Given the description of an element on the screen output the (x, y) to click on. 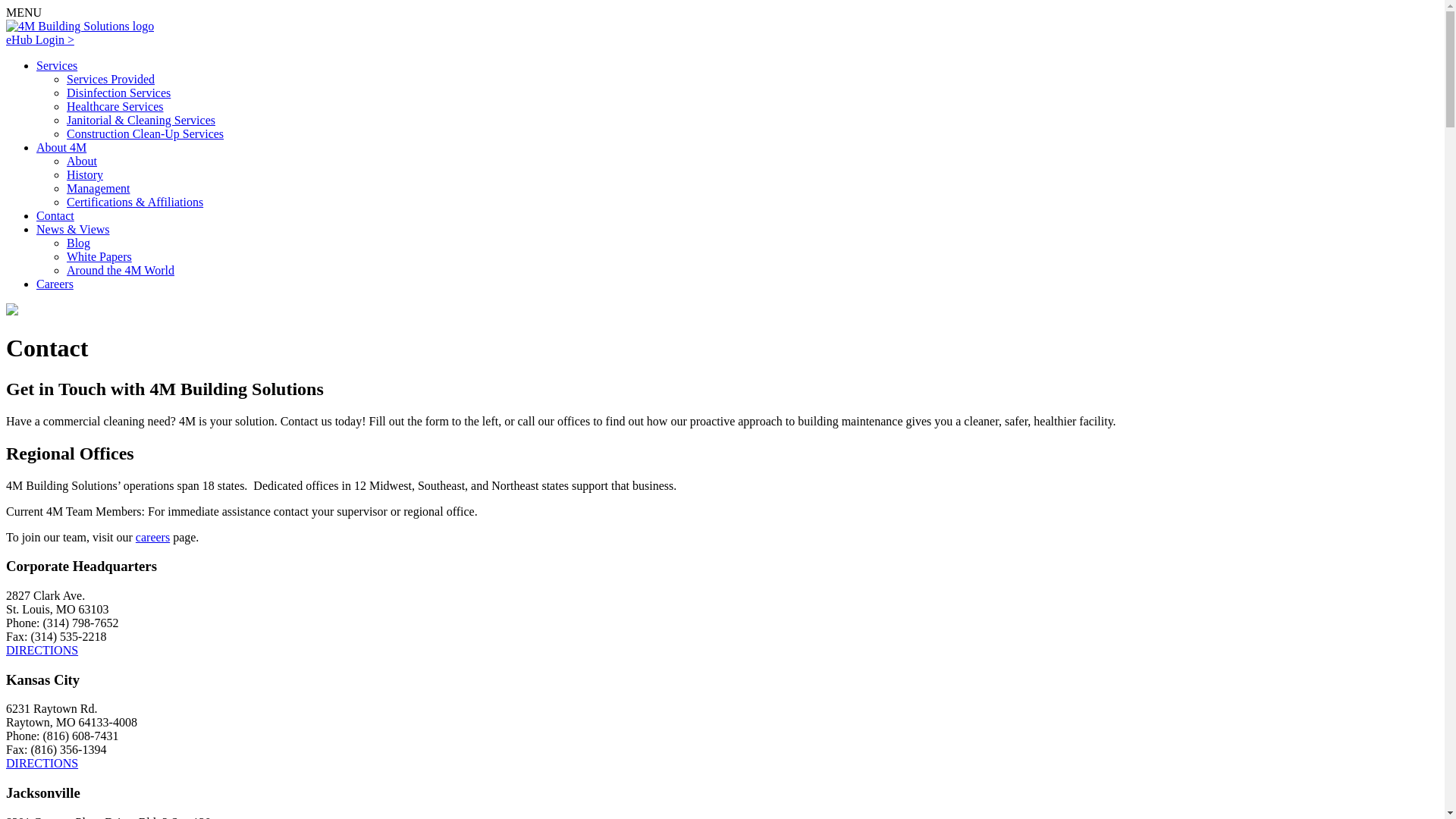
About Element type: text (81, 160)
History Element type: text (84, 174)
Services Element type: text (56, 65)
Contact Element type: text (55, 215)
About 4M Element type: text (61, 147)
Services Provided Element type: text (110, 78)
White Papers Element type: text (98, 256)
Healthcare Services Element type: text (114, 106)
Construction Clean-Up Services Element type: text (144, 133)
DIRECTIONS Element type: text (42, 762)
Careers Element type: text (54, 283)
Janitorial & Cleaning Services Element type: text (140, 119)
News & Views Element type: text (72, 228)
Around the 4M World Element type: text (120, 269)
Certifications & Affiliations Element type: text (134, 201)
DIRECTIONS Element type: text (42, 649)
careers Element type: text (152, 536)
Blog Element type: text (78, 242)
eHub Login > Element type: text (40, 39)
MENU Element type: text (23, 12)
Disinfection Services Element type: text (118, 92)
Management Element type: text (98, 188)
